Given the description of an element on the screen output the (x, y) to click on. 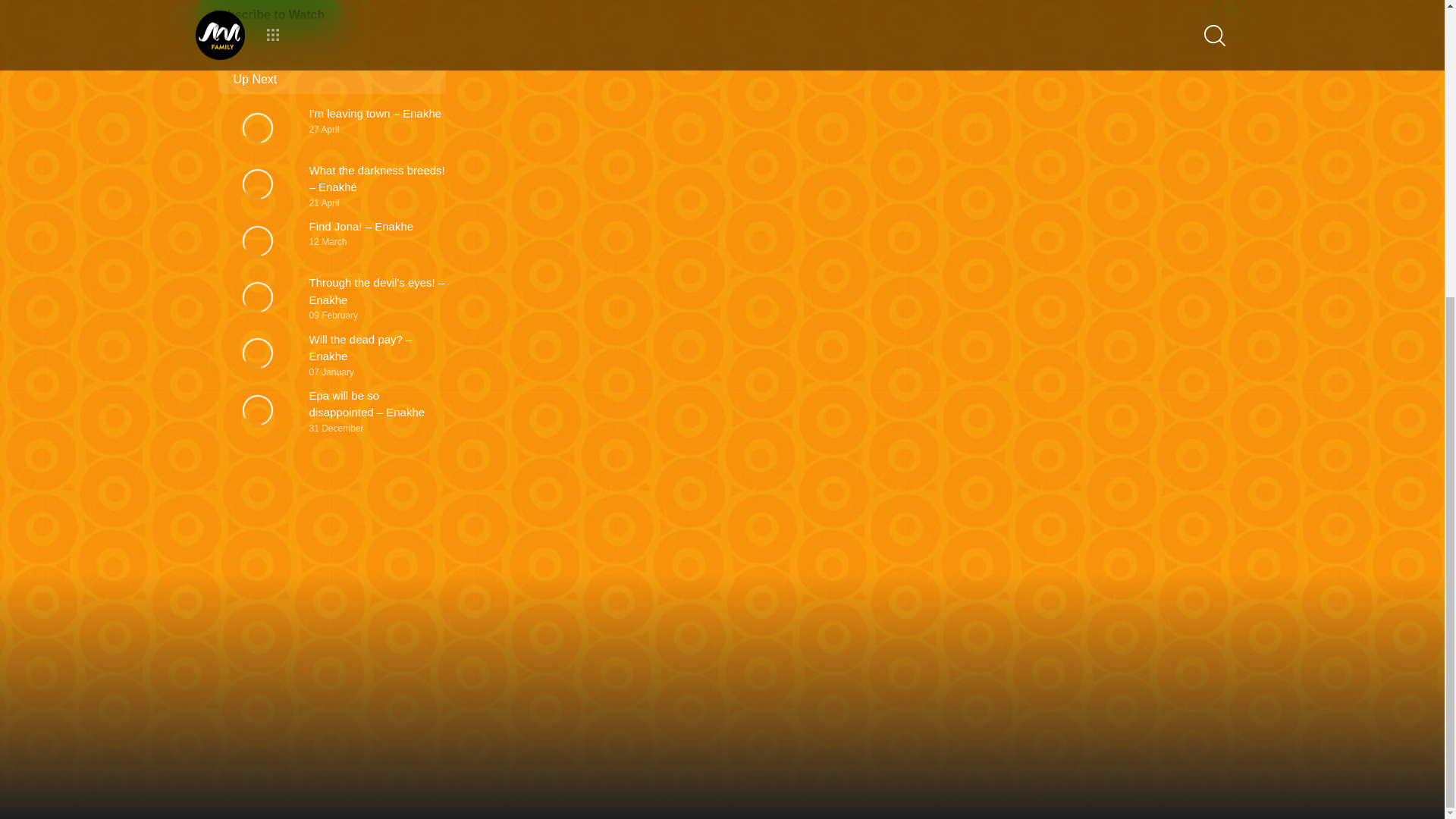
Subscribe to Watch (268, 17)
